Given the description of an element on the screen output the (x, y) to click on. 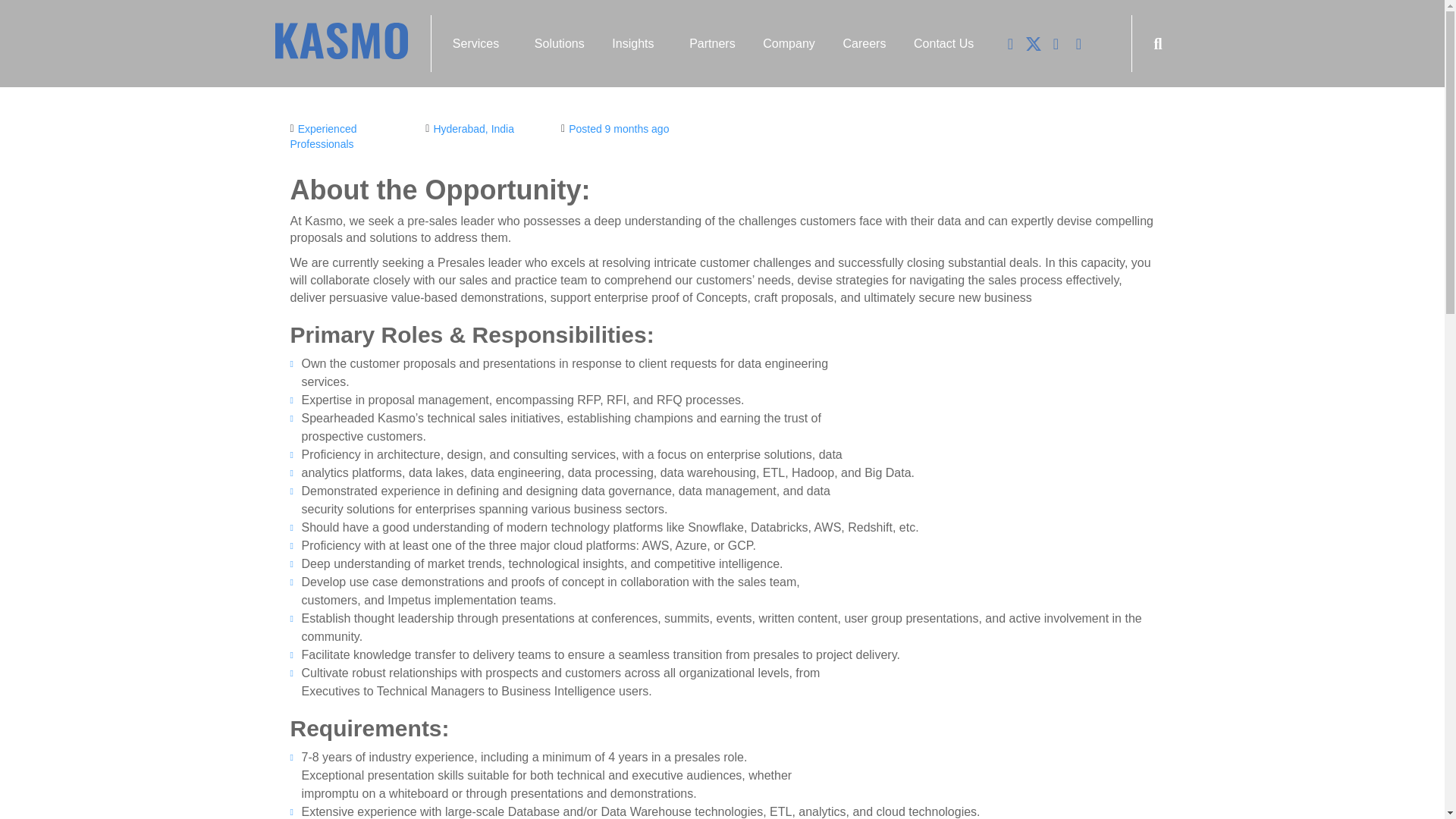
Company (788, 42)
Insights (636, 42)
Careers (863, 42)
Contact Us (943, 42)
Partners (712, 42)
Solutions (559, 42)
Services (478, 42)
